Given the description of an element on the screen output the (x, y) to click on. 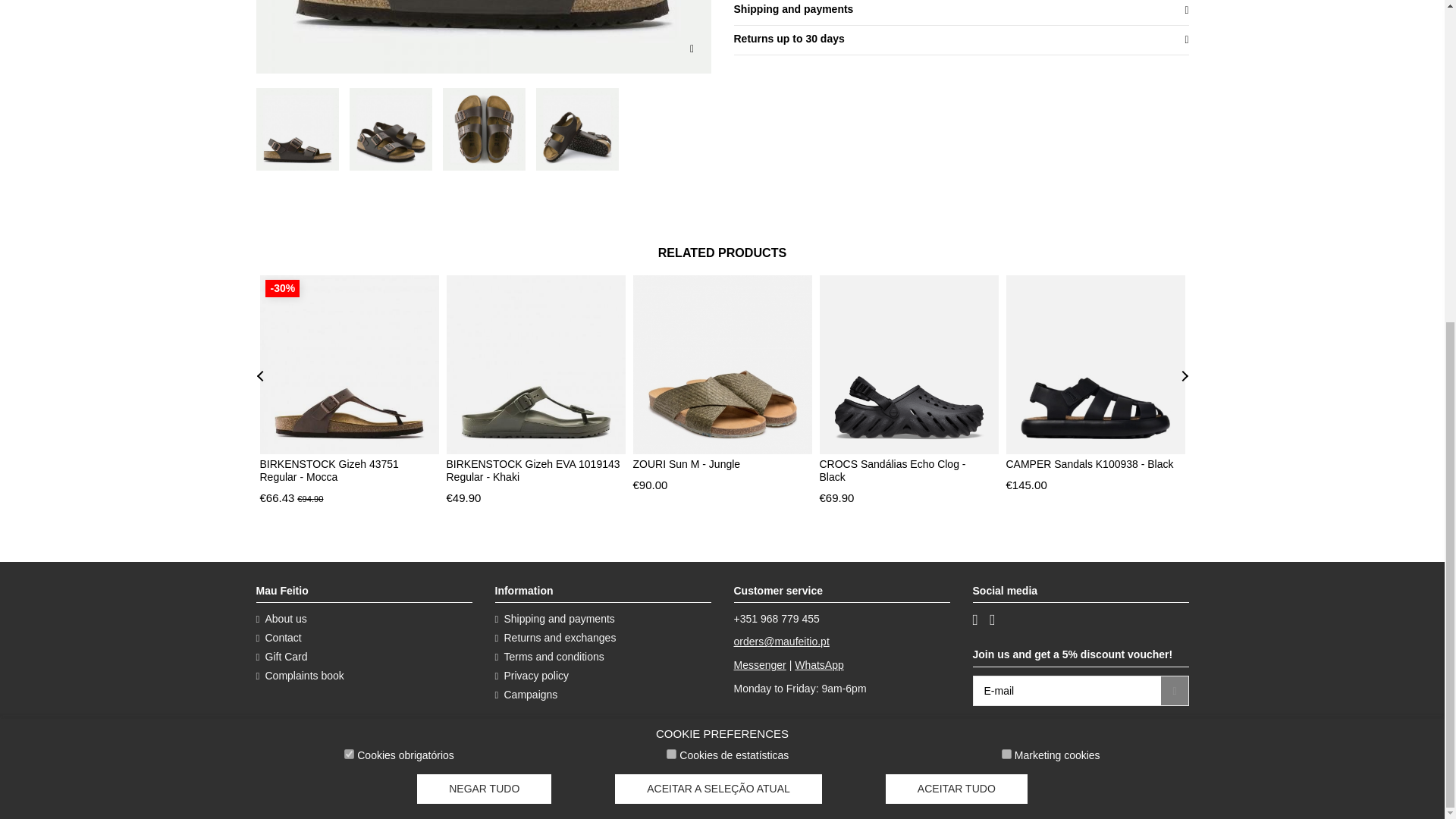
on (671, 230)
on (1006, 230)
on (348, 230)
on (671, 230)
on (348, 230)
on (1006, 230)
BIRKENSTOCK Milano 34101 Regular -... (483, 36)
BIRKENSTOCK Milano 34101 Regular -... (128, 36)
